Given the description of an element on the screen output the (x, y) to click on. 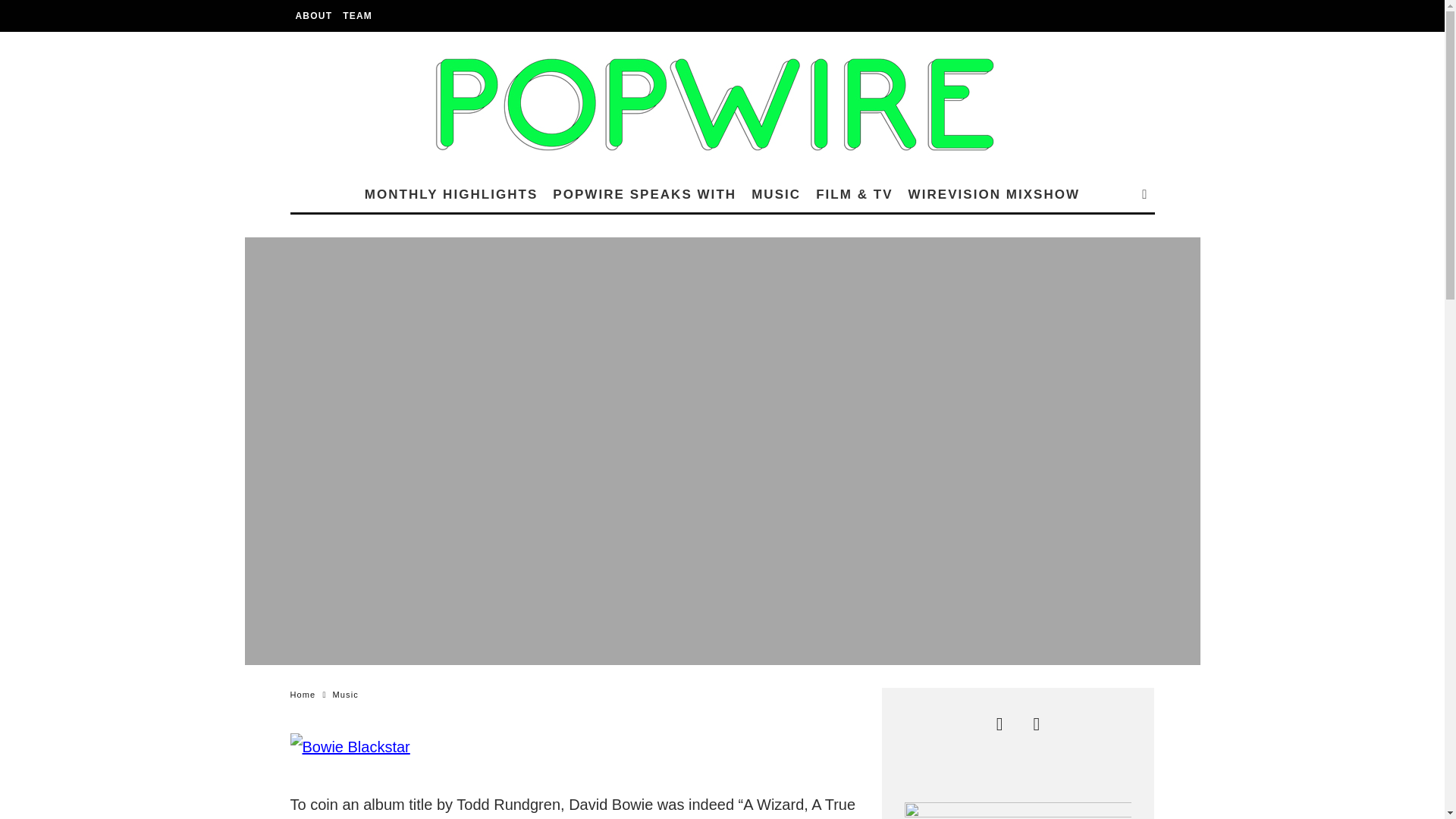
MONTHLY HIGHLIGHTS (450, 194)
WIREVISION MIXSHOW (994, 194)
MUSIC (776, 194)
ABOUT (313, 15)
POPWIRE SPEAKS WITH (644, 194)
TEAM (357, 15)
